Given the description of an element on the screen output the (x, y) to click on. 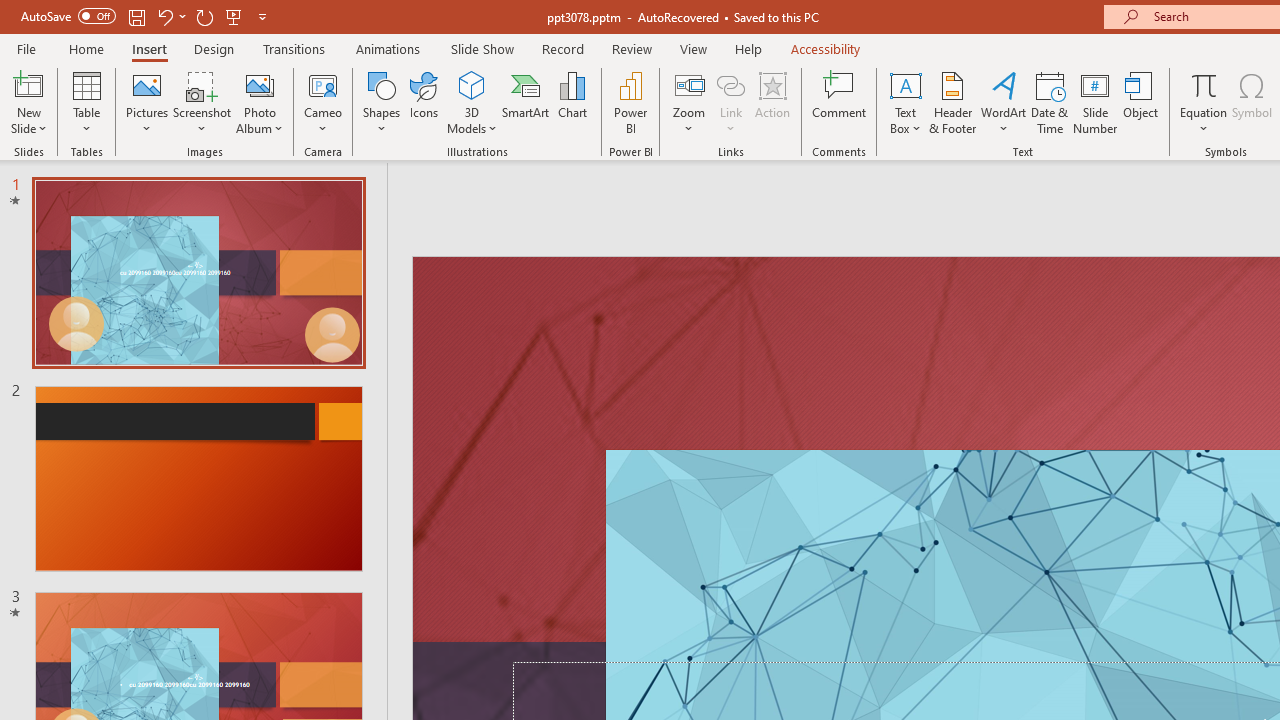
Home (86, 48)
Power BI (630, 102)
Icons (424, 102)
Review (631, 48)
Photo Album... (259, 102)
Comment (839, 102)
Symbol... (1252, 102)
Object... (1141, 102)
Transitions (294, 48)
Link (731, 84)
Slide Number (1095, 102)
Action (772, 102)
